Given the description of an element on the screen output the (x, y) to click on. 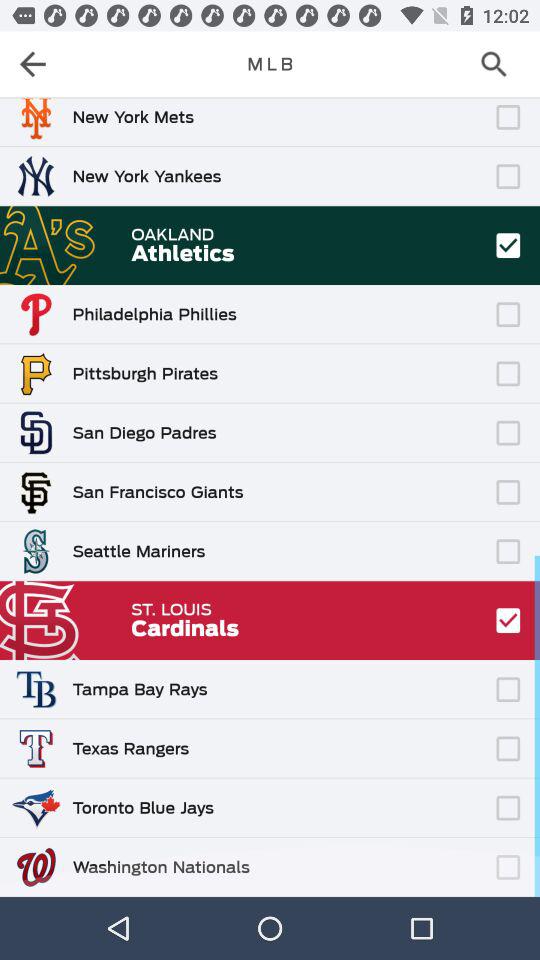
search mlb teams (500, 64)
